Given the description of an element on the screen output the (x, y) to click on. 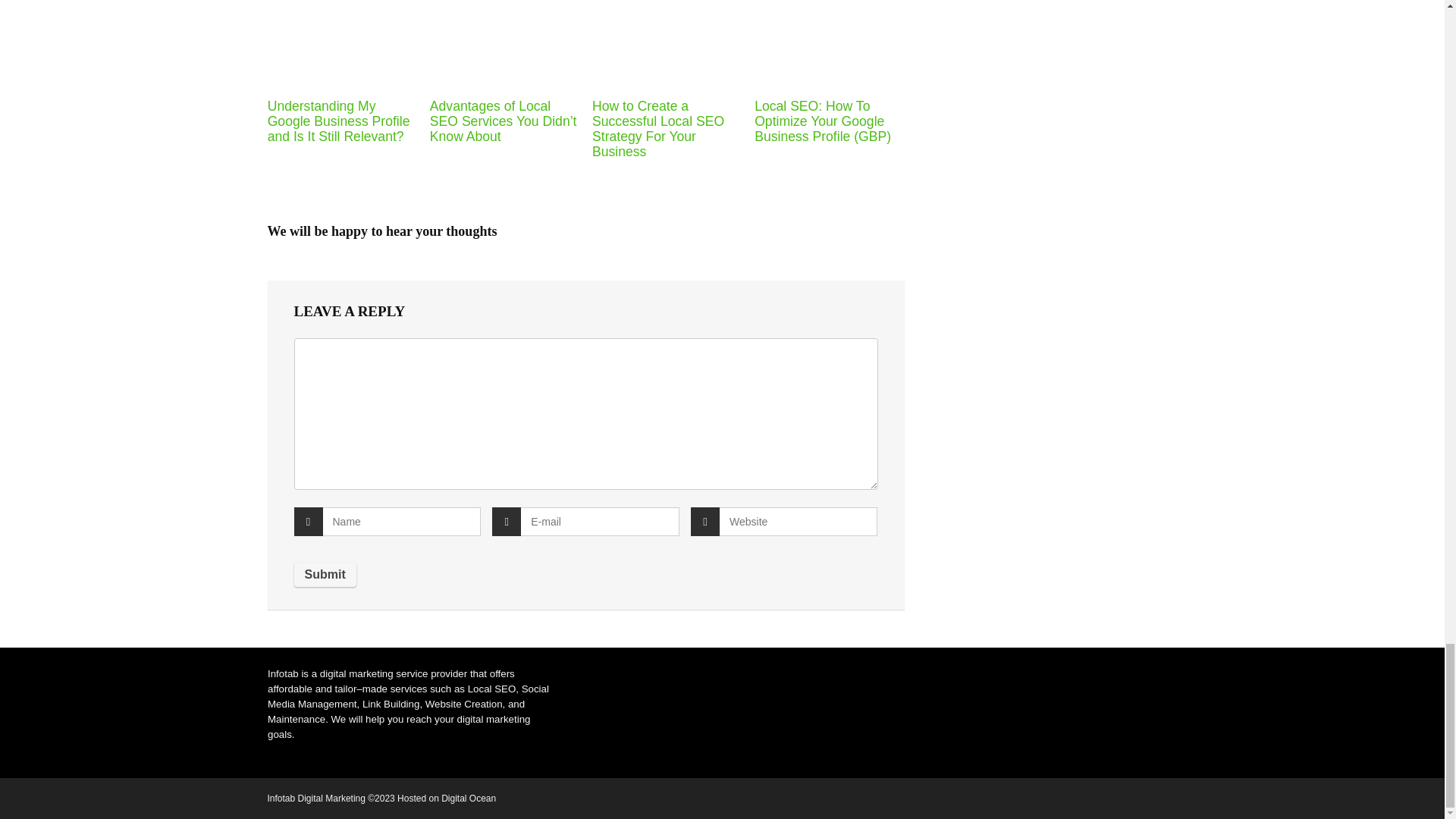
Submit (325, 574)
Submit (325, 574)
